Given the description of an element on the screen output the (x, y) to click on. 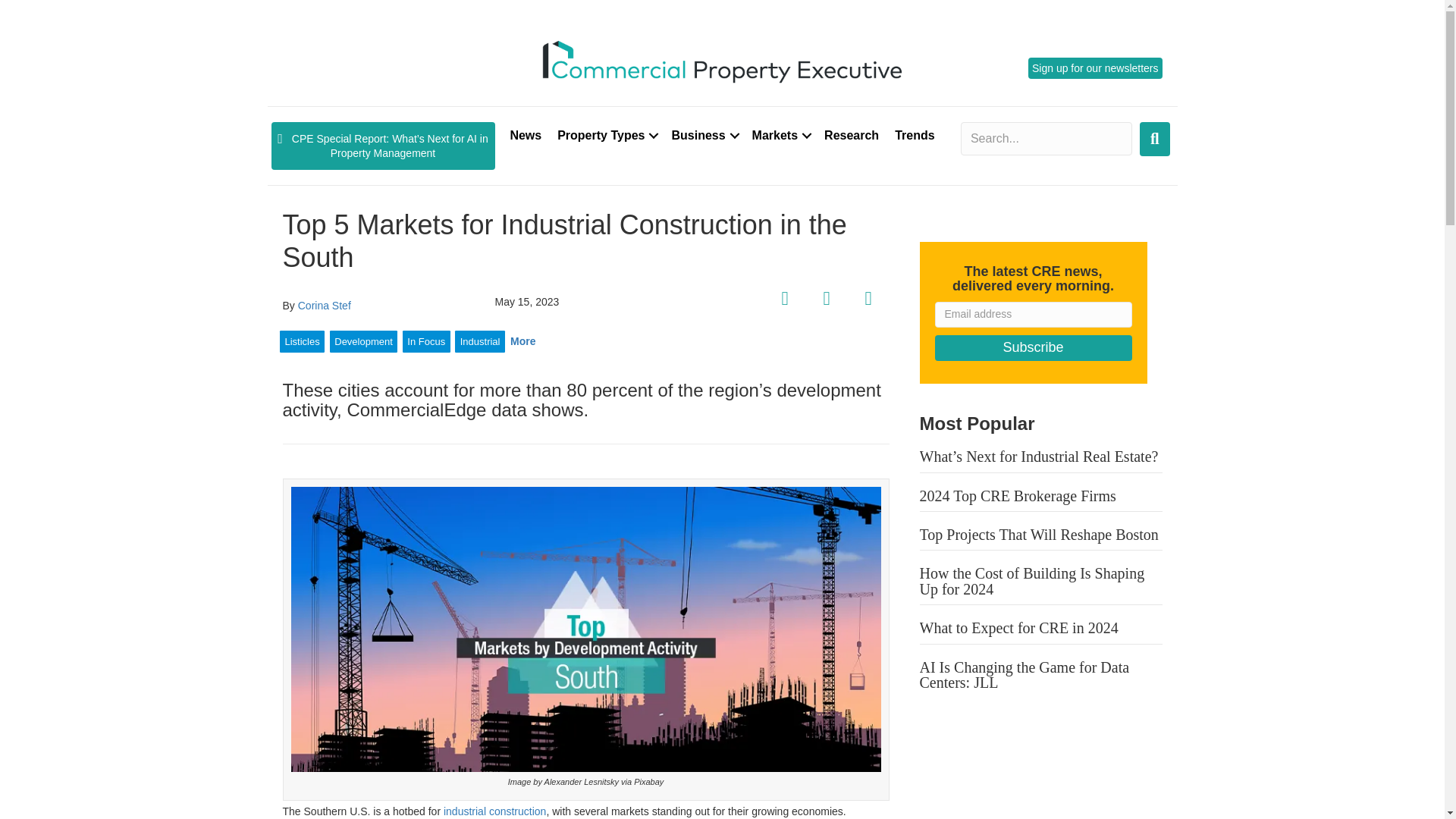
Subscribe (1032, 347)
News (525, 135)
CPE-Logo-Transparent (721, 60)
Property Types (606, 135)
Business (702, 135)
Markets (779, 135)
Sign up for our newsletters (1094, 67)
